Given the description of an element on the screen output the (x, y) to click on. 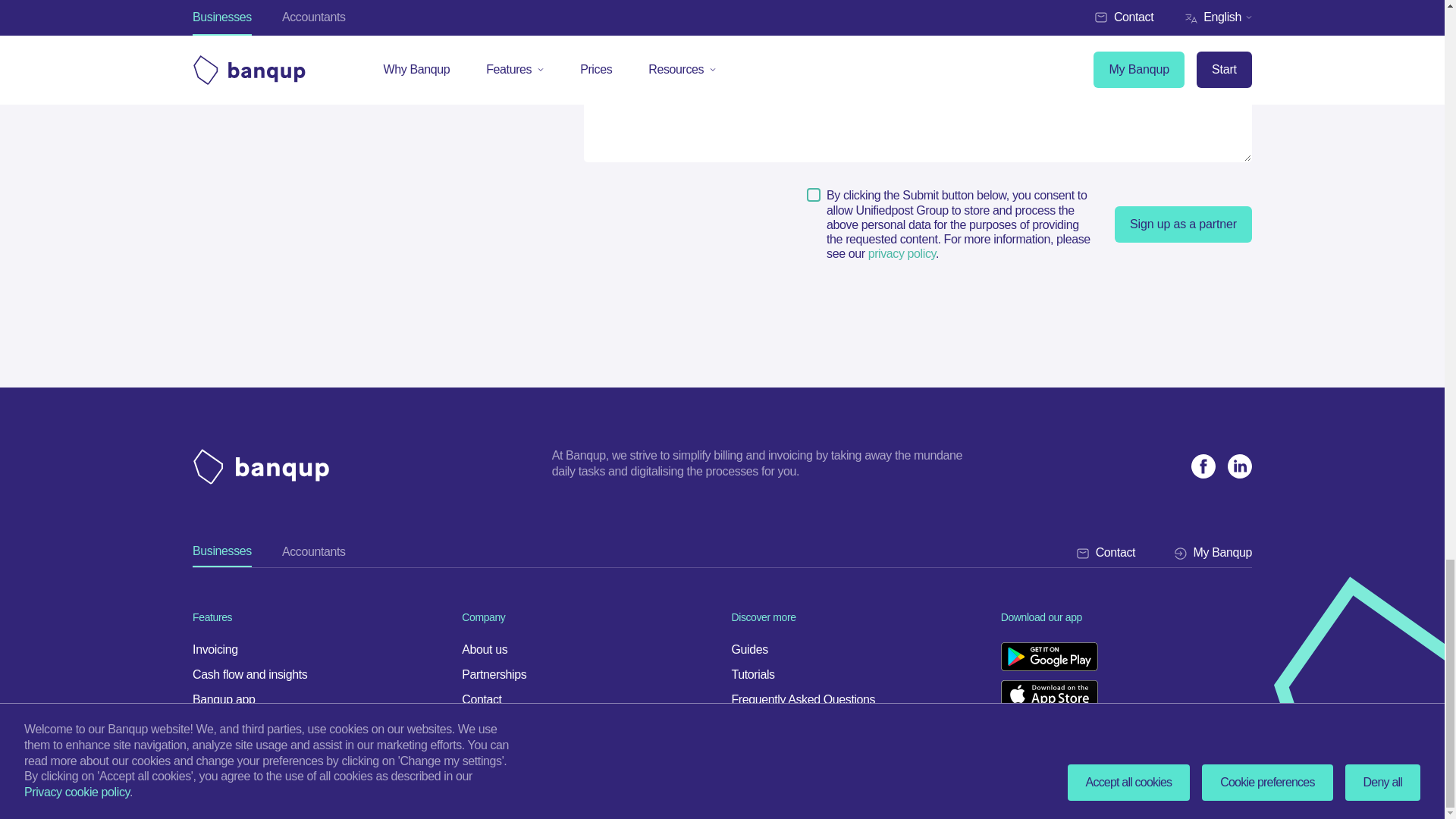
Sign up as a partner (1183, 224)
on (813, 194)
